Given the description of an element on the screen output the (x, y) to click on. 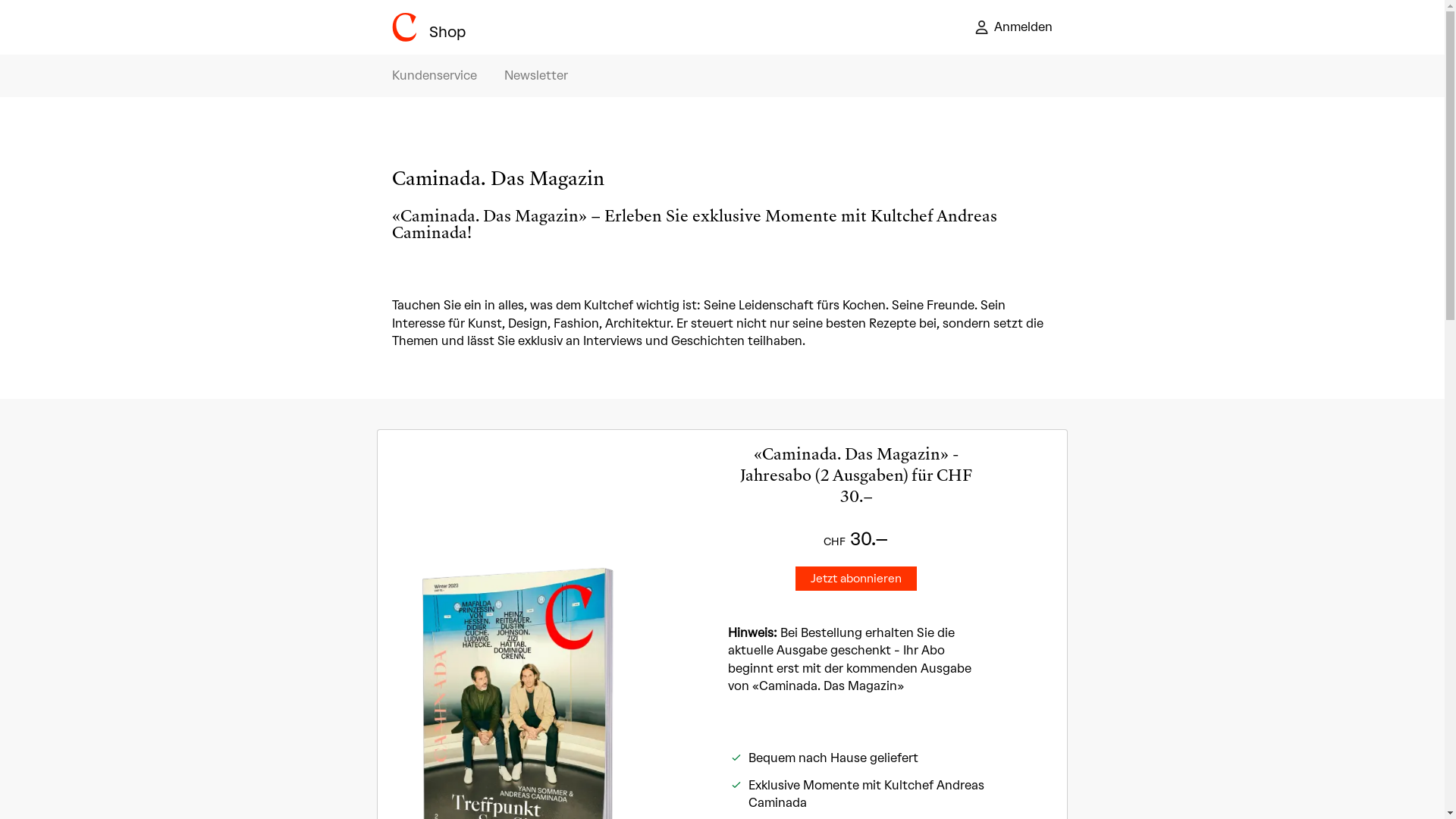
Newsletter Element type: text (535, 75)
Anmelden Element type: text (1013, 27)
Jetzt abonnieren Element type: text (855, 578)
Kundenservice Element type: text (434, 75)
